Given the description of an element on the screen output the (x, y) to click on. 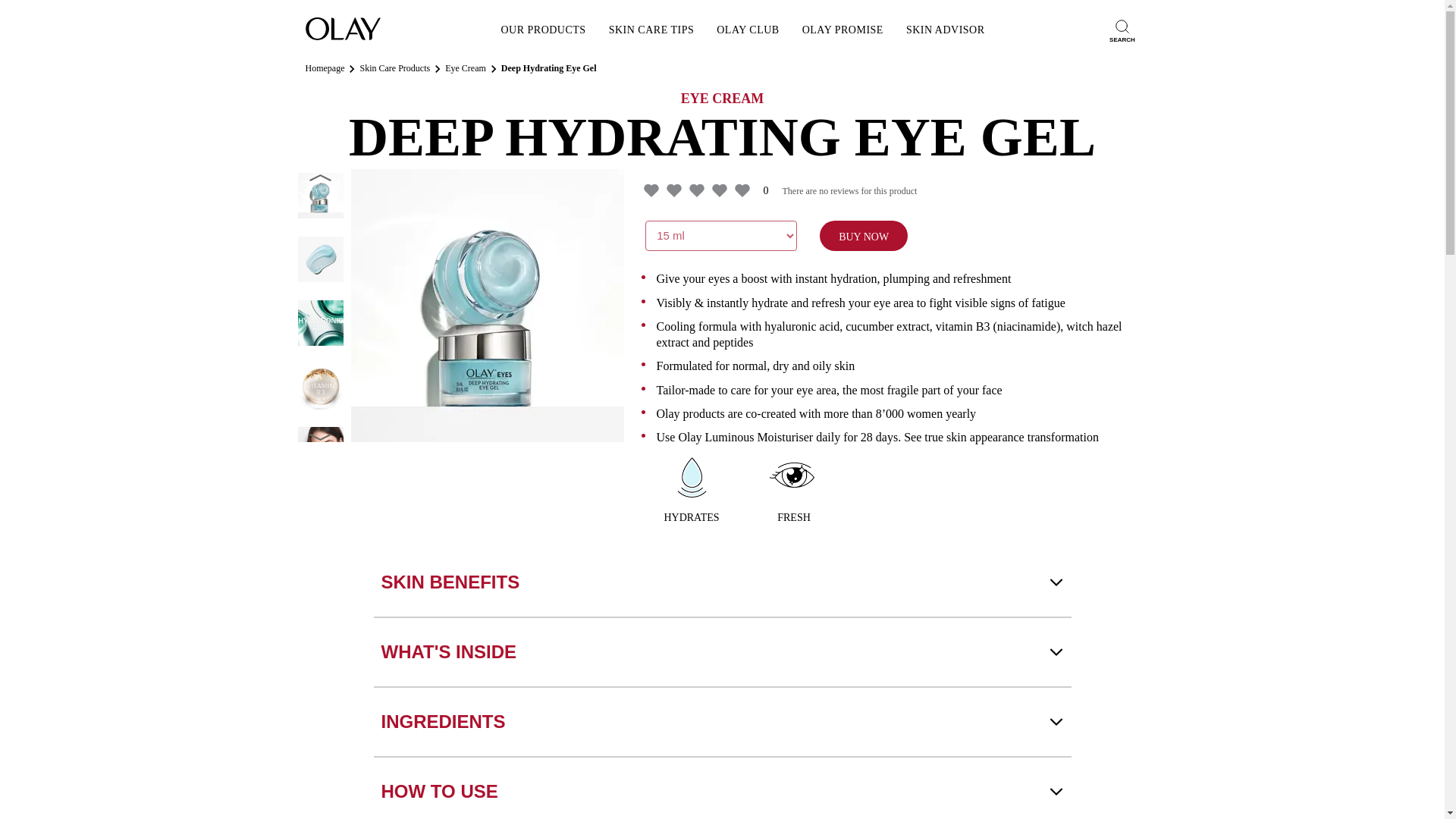
OUR PRODUCTS (542, 29)
